Given the description of an element on the screen output the (x, y) to click on. 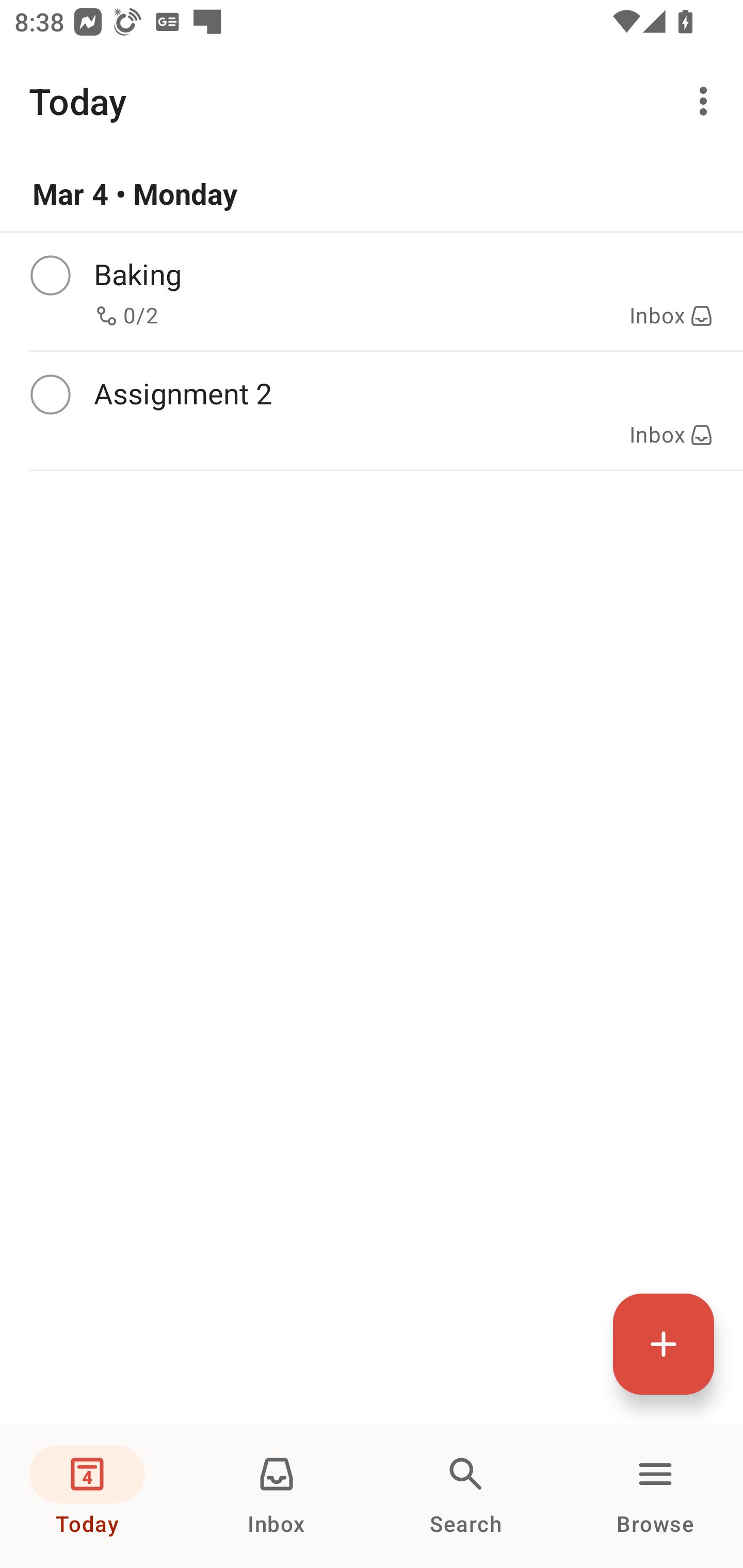
Today More options (371, 100)
More options (706, 101)
Mar 4 • Monday (371, 194)
Complete Baking 0/2 Subtasks Inbox (371, 291)
Complete (50, 275)
Complete Assignment 2 Inbox (371, 410)
Complete (50, 395)
Quick add (663, 1343)
Inbox (276, 1495)
Search (465, 1495)
Browse (655, 1495)
